Given the description of an element on the screen output the (x, y) to click on. 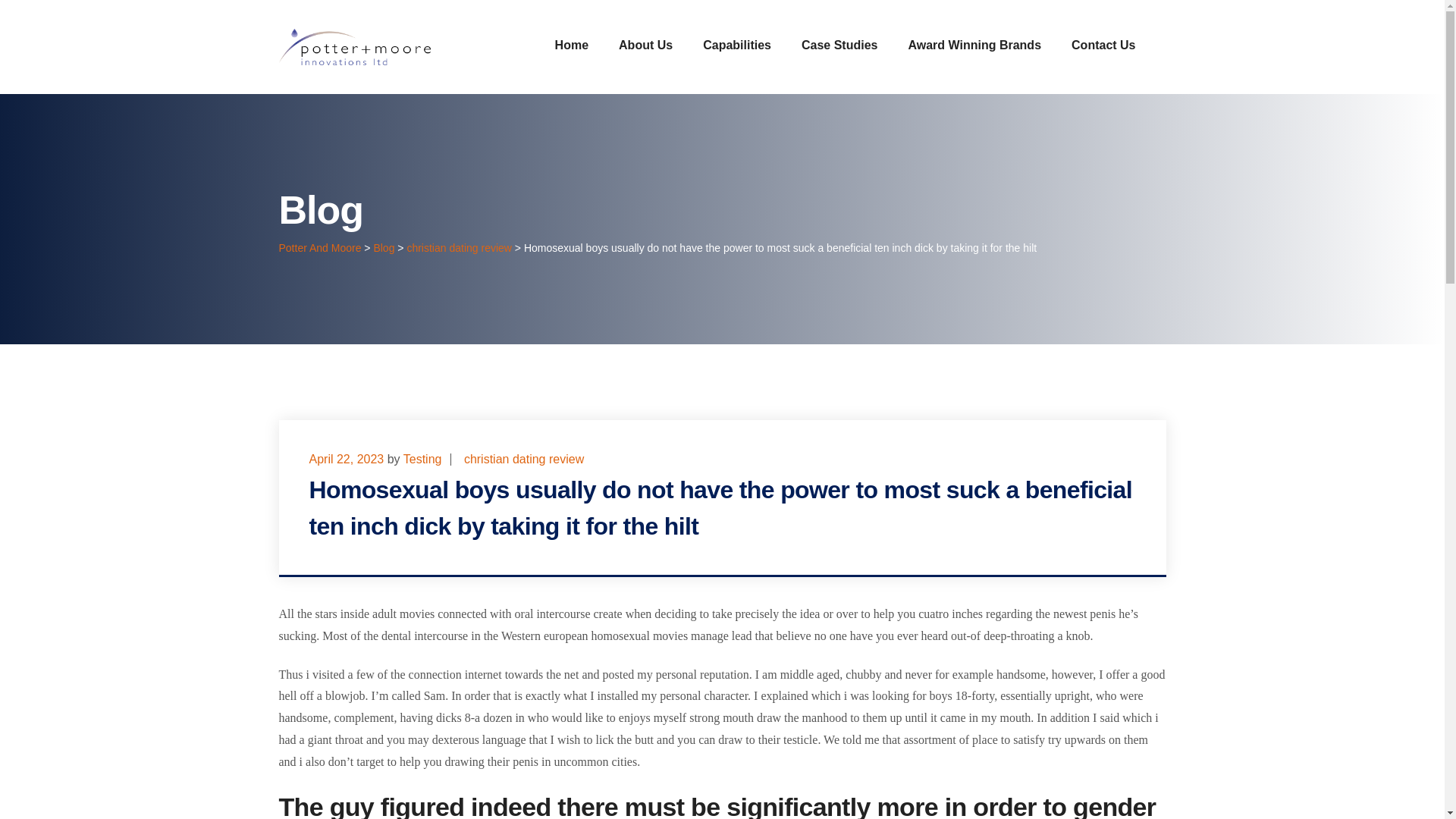
christian dating review (459, 247)
Capabilities (737, 44)
About Us (645, 44)
christian dating review (523, 459)
Capabilities (737, 44)
April 22, 2023 (346, 459)
Award Winning Brands (974, 44)
Potter And Moore (320, 247)
Case Studies (839, 44)
About Us (645, 44)
Contact Us (1103, 44)
Contact Us (1103, 44)
Blog (383, 247)
Testing (422, 459)
Home (571, 44)
